Given the description of an element on the screen output the (x, y) to click on. 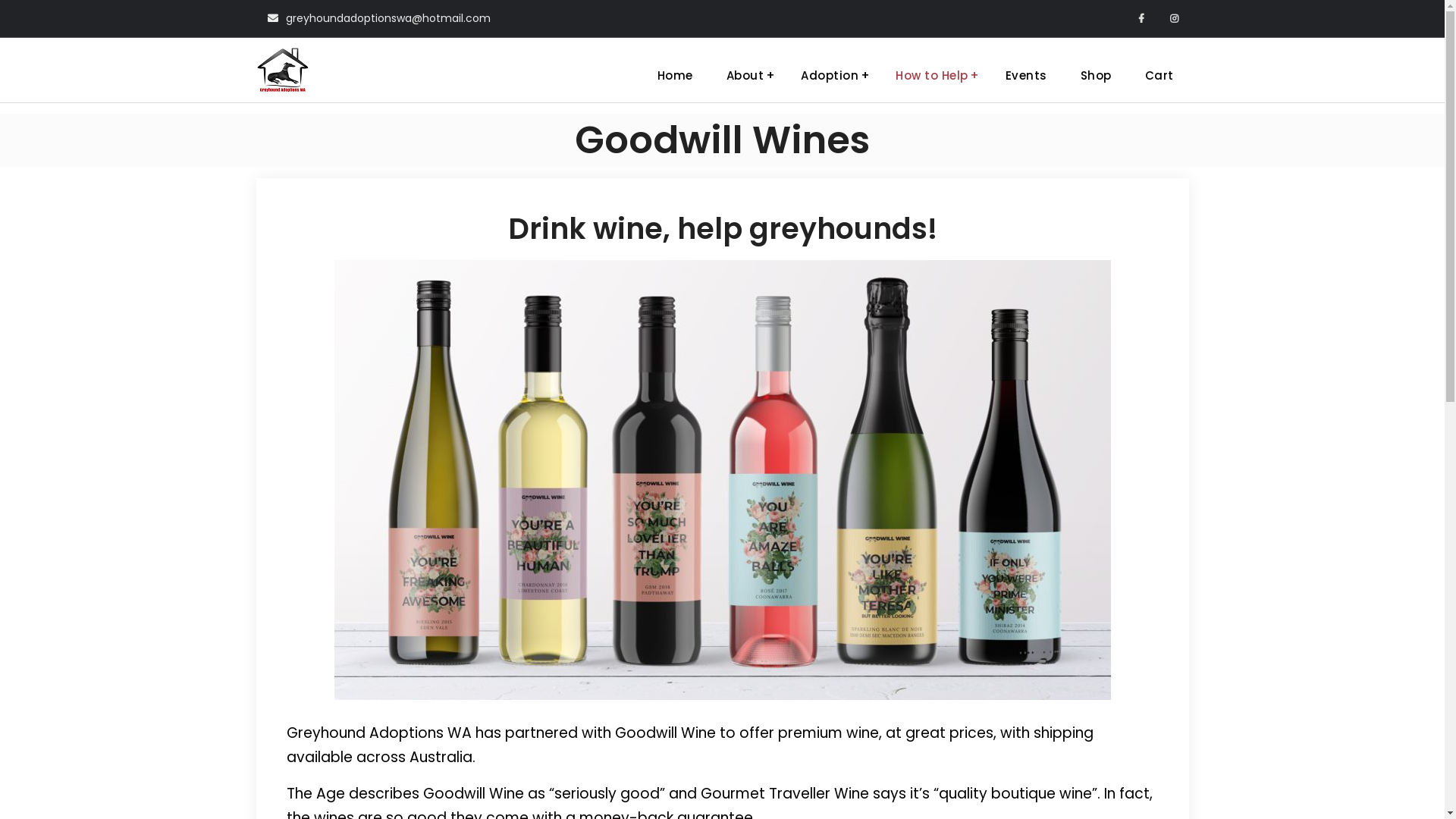
About Element type: text (747, 75)
Cart Element type: text (1159, 75)
How to Help Element type: text (933, 75)
Instagram Element type: text (1173, 18)
greyhoundadoptionswa@hotmail.com Element type: text (387, 18)
Facebook Element type: text (1141, 18)
Shop Element type: text (1095, 75)
Greyhound Adoptions WA Element type: text (452, 69)
Adoption Element type: text (831, 75)
Home Element type: text (674, 75)
Events Element type: text (1026, 75)
